Given the description of an element on the screen output the (x, y) to click on. 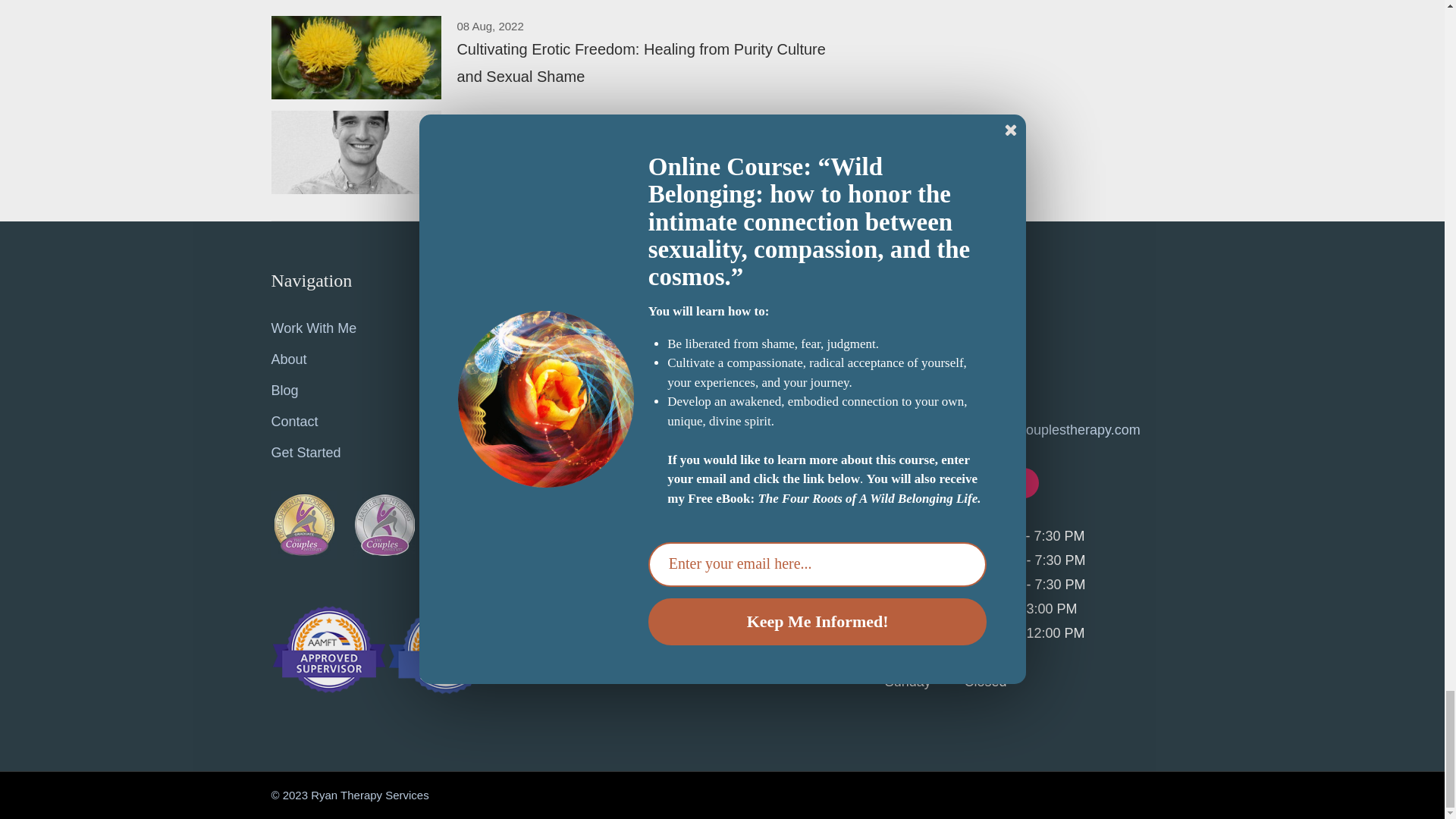
Facebook (903, 482)
Default Label (983, 482)
Default Label (1024, 482)
Default Label (943, 482)
